Given the description of an element on the screen output the (x, y) to click on. 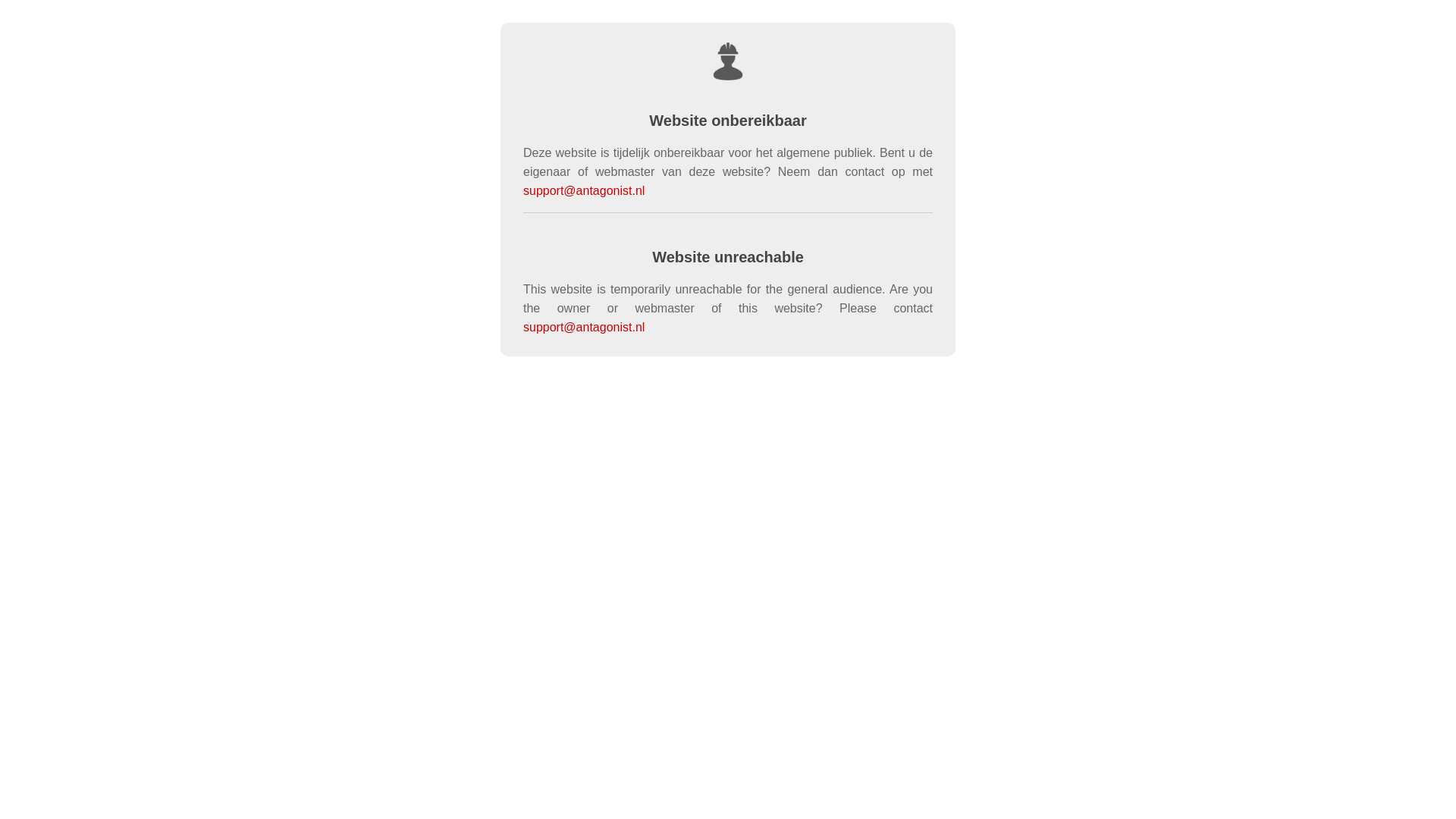
support@antagonist.nl Element type: text (583, 326)
support@antagonist.nl Element type: text (583, 190)
